Given the description of an element on the screen output the (x, y) to click on. 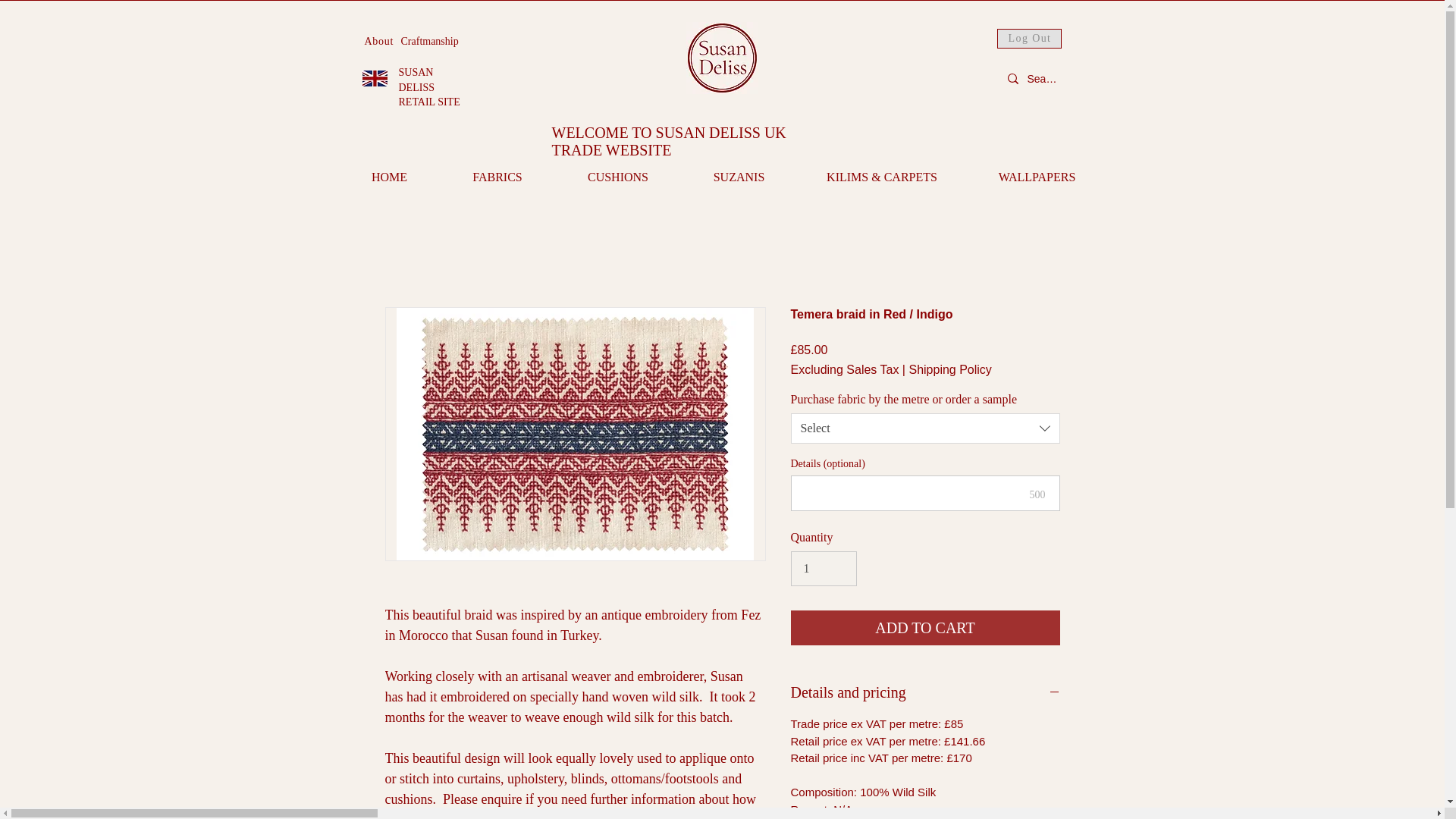
HOME (388, 177)
ADD TO CART (924, 627)
UK-FLAG.png (374, 78)
About (378, 41)
Log Out (1028, 38)
Details and pricing (924, 691)
Select (924, 428)
WALLPAPERS (1037, 177)
Shipping Policy (949, 369)
1 (823, 568)
FABRICS (429, 86)
SUZANIS (496, 177)
Craftmanship (738, 177)
CUSHIONS (429, 41)
